Given the description of an element on the screen output the (x, y) to click on. 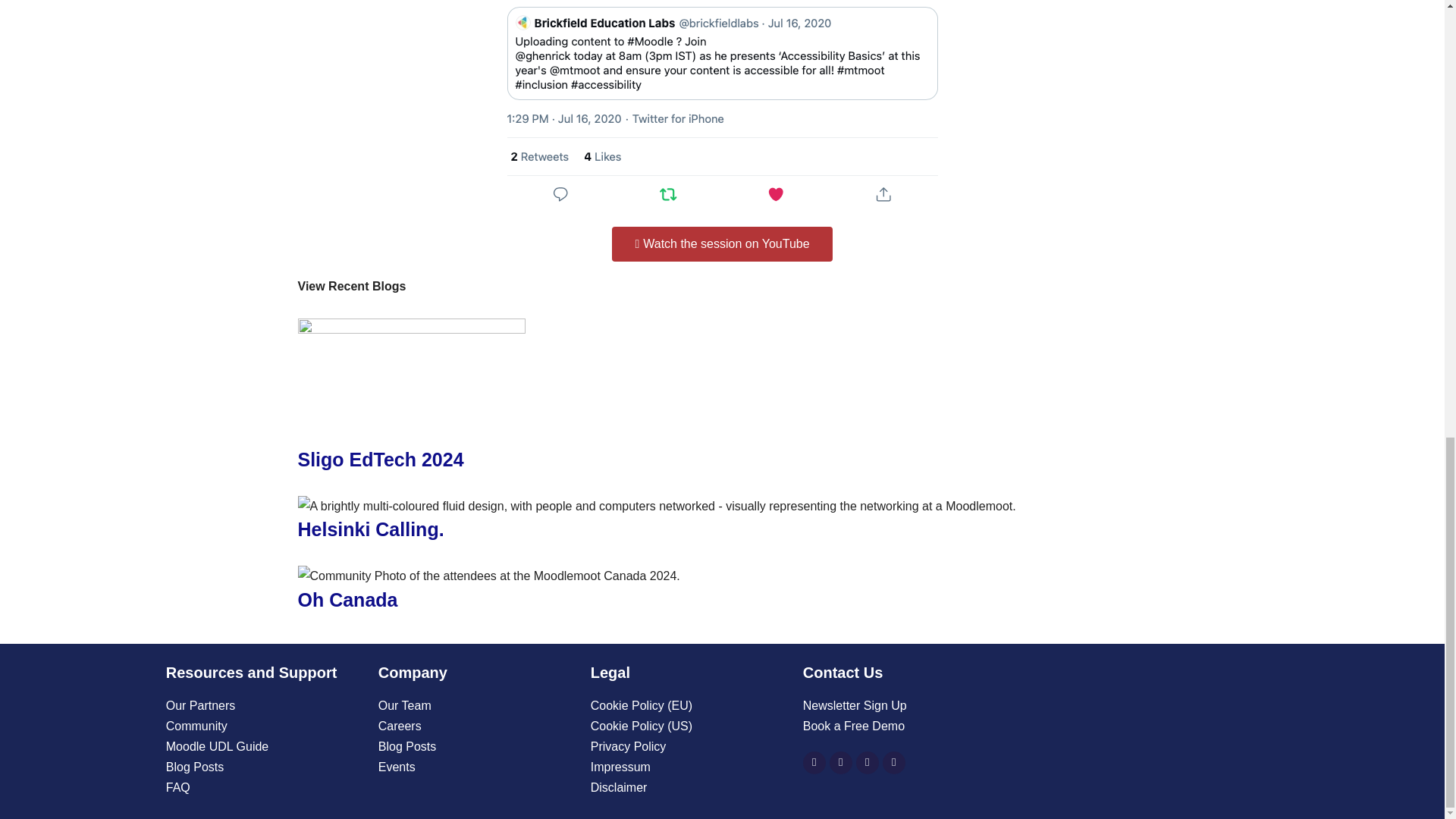
Blog Posts (476, 746)
Sligo EdTech 2024 (380, 459)
Book a Free Demo (901, 725)
Community (263, 725)
Careers (476, 725)
Events (476, 766)
Helsinki Calling. (370, 528)
Newsletter Sign Up (901, 705)
Moodle UDL Guide (263, 746)
Our Partners (263, 705)
